Given the description of an element on the screen output the (x, y) to click on. 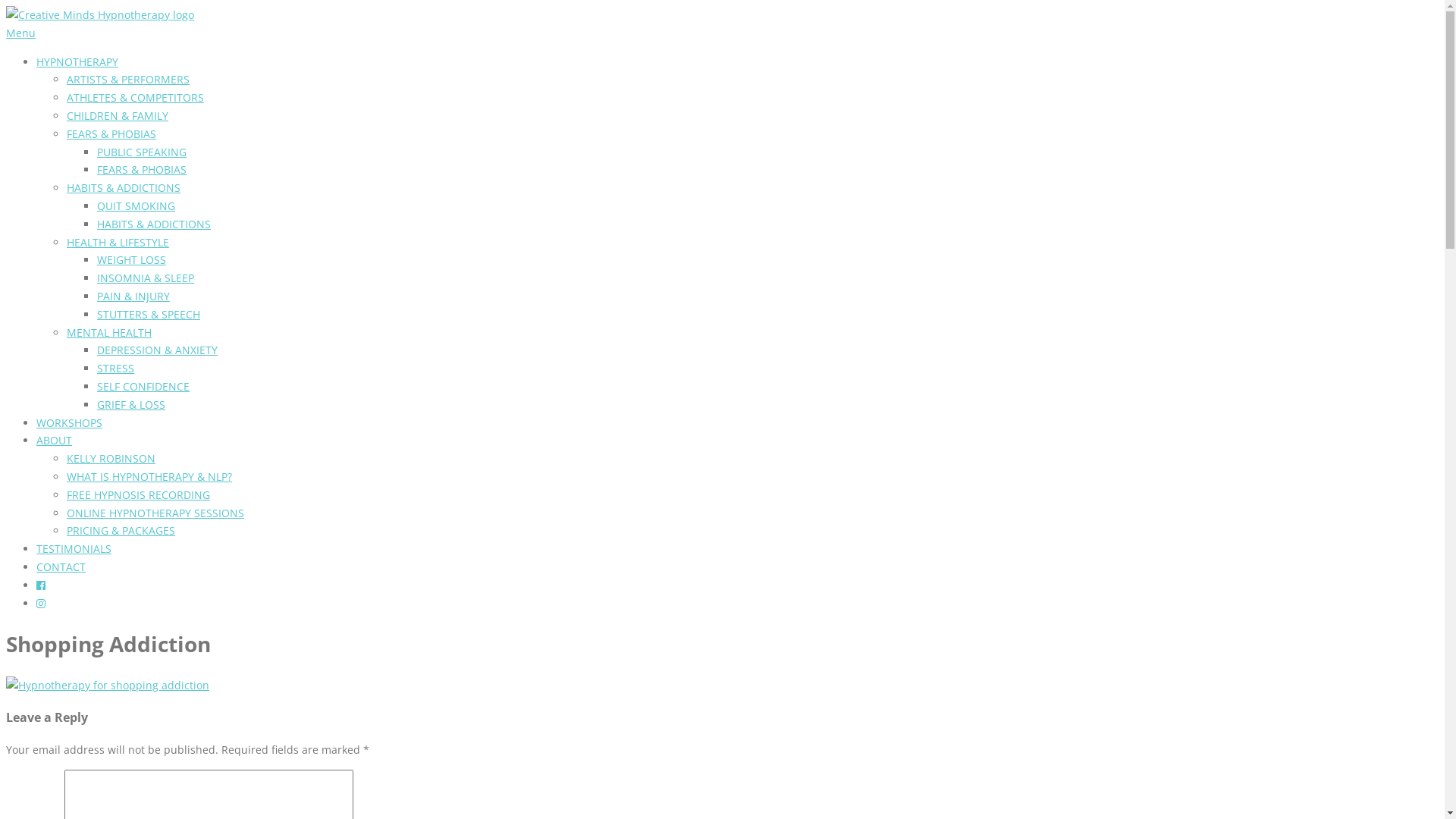
WEIGHT LOSS Element type: text (131, 259)
PAIN & INJURY Element type: text (133, 295)
FEARS & PHOBIAS Element type: text (141, 169)
INSOMNIA & SLEEP Element type: text (145, 277)
ATHLETES & COMPETITORS Element type: text (134, 97)
GRIEF & LOSS Element type: text (131, 404)
MENTAL HEALTH Element type: text (108, 332)
PRICING & PACKAGES Element type: text (120, 530)
Skip to content Element type: text (5, 5)
DEPRESSION & ANXIETY Element type: text (157, 349)
ARTISTS & PERFORMERS Element type: text (127, 79)
CHILDREN & FAMILY Element type: text (117, 115)
Menu Element type: text (20, 32)
ABOUT Element type: text (54, 440)
FEARS & PHOBIAS Element type: text (111, 133)
TESTIMONIALS Element type: text (73, 548)
ONLINE HYPNOTHERAPY SESSIONS Element type: text (155, 512)
HEALTH & LIFESTYLE Element type: text (117, 242)
QUIT SMOKING Element type: text (136, 205)
WORKSHOPS Element type: text (69, 422)
CONTACT Element type: text (60, 566)
HABITS & ADDICTIONS Element type: text (123, 187)
HABITS & ADDICTIONS Element type: text (153, 223)
STUTTERS & SPEECH Element type: text (148, 314)
WHAT IS HYPNOTHERAPY & NLP? Element type: text (149, 476)
HYPNOTHERAPY Element type: text (77, 61)
STRESS Element type: text (115, 367)
KELLY ROBINSON Element type: text (110, 458)
SELF CONFIDENCE Element type: text (143, 386)
PUBLIC SPEAKING Element type: text (141, 151)
FREE HYPNOSIS RECORDING Element type: text (138, 494)
